Given the description of an element on the screen output the (x, y) to click on. 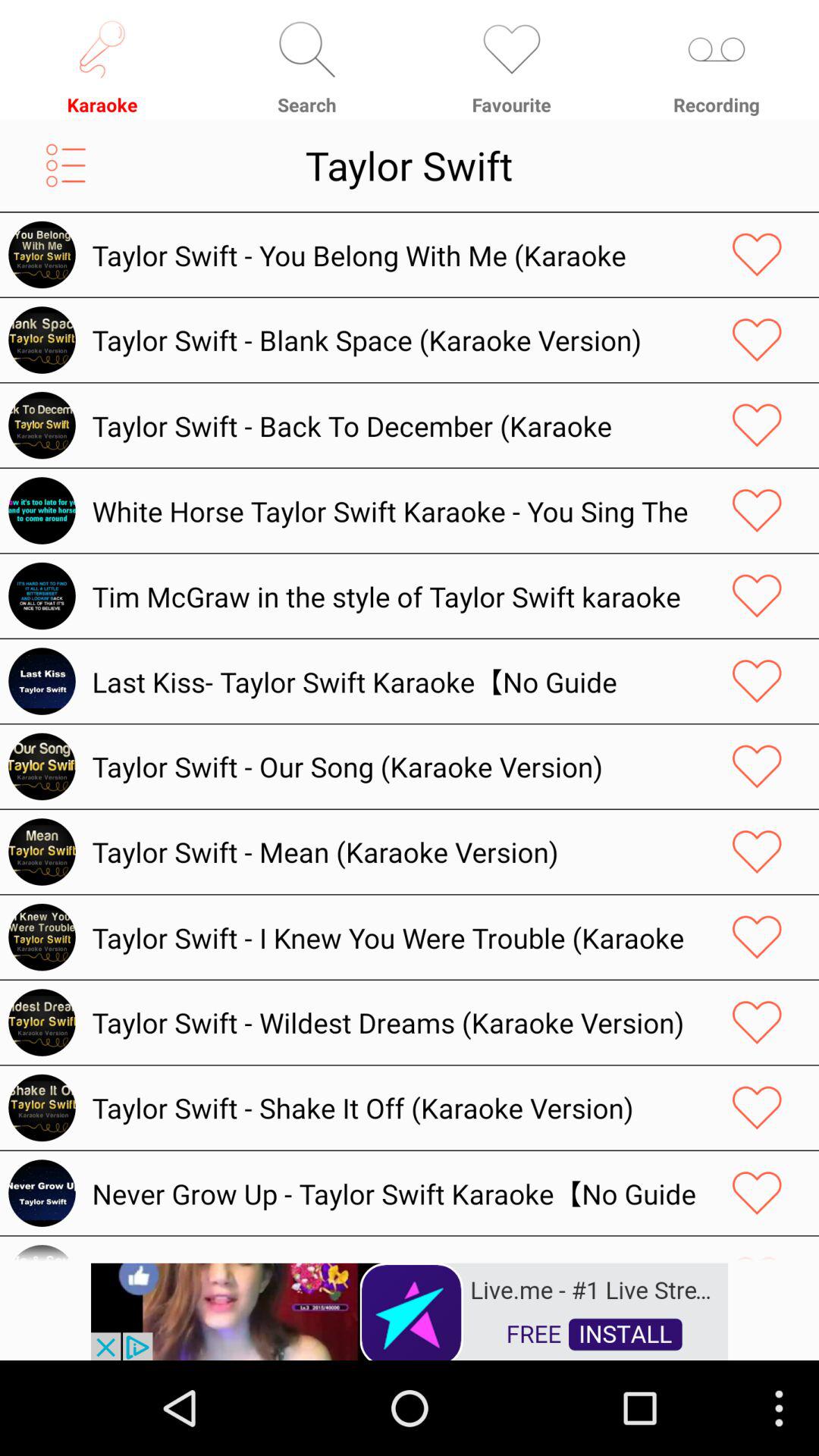
love button (756, 339)
